Given the description of an element on the screen output the (x, y) to click on. 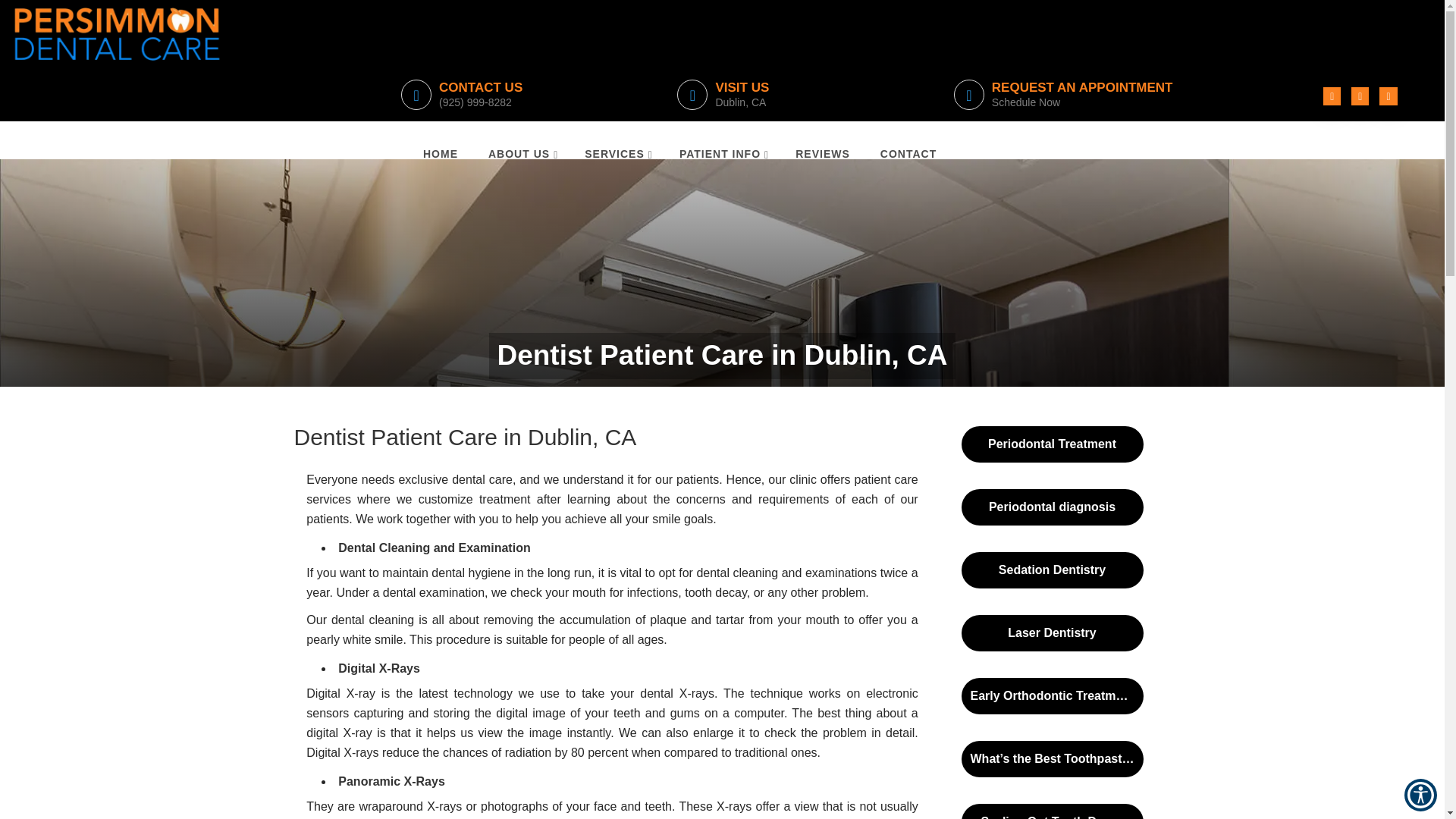
ABOUT US (521, 151)
Schedule Now (800, 94)
Persimmon Dental Care (1108, 94)
HOME (117, 33)
SERVICES (440, 151)
